Given the description of an element on the screen output the (x, y) to click on. 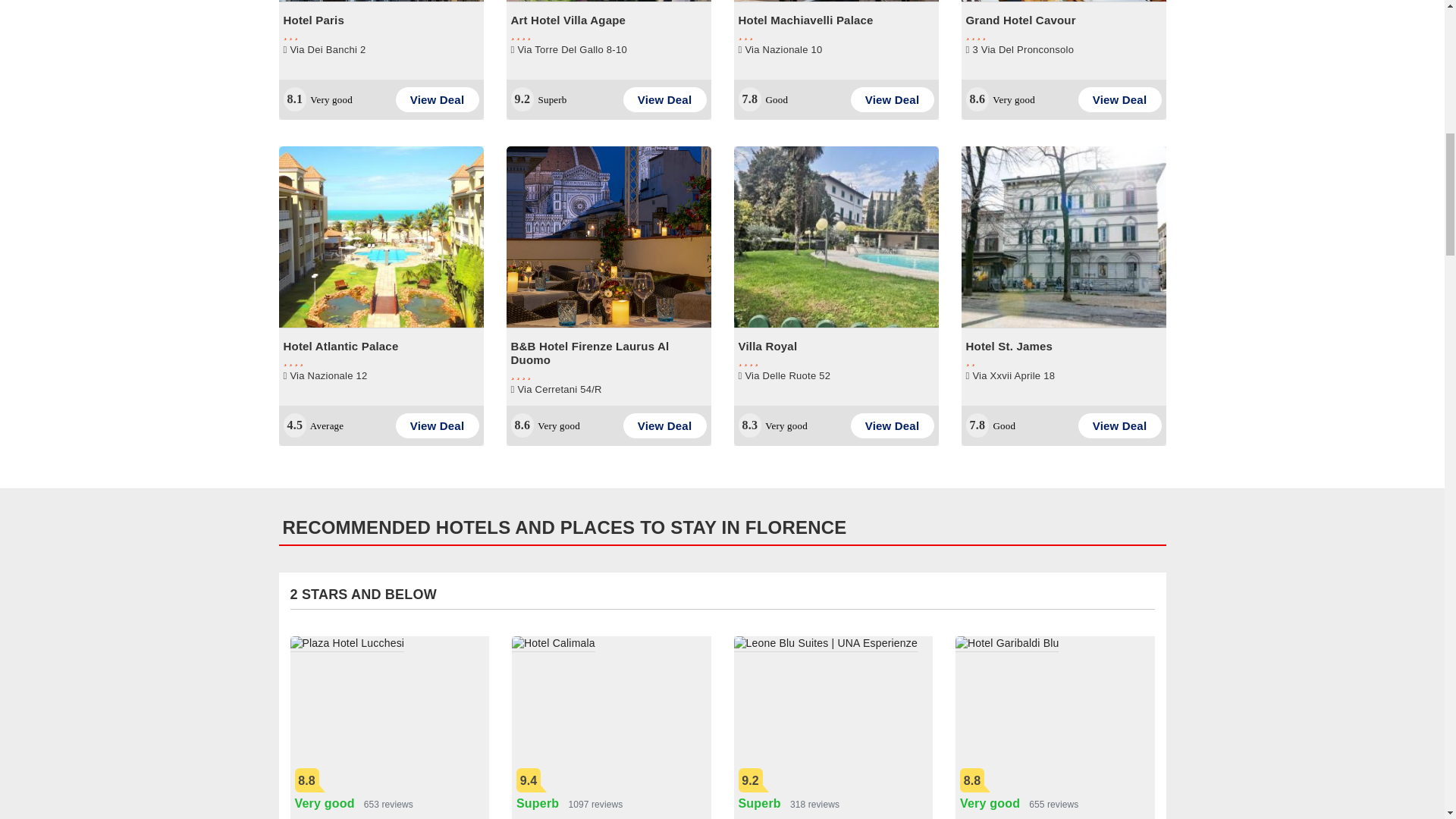
Grand Hotel Cavour (1020, 19)
Hotel Atlantic Palace (340, 345)
Hotel St. James (1009, 345)
Hotel Machiavelli Palace (805, 19)
Hotel Paris (314, 19)
Hotel Paris (314, 19)
Villa Royal (767, 345)
Art Hotel Villa Agape (568, 19)
View Deal (437, 99)
